Given the description of an element on the screen output the (x, y) to click on. 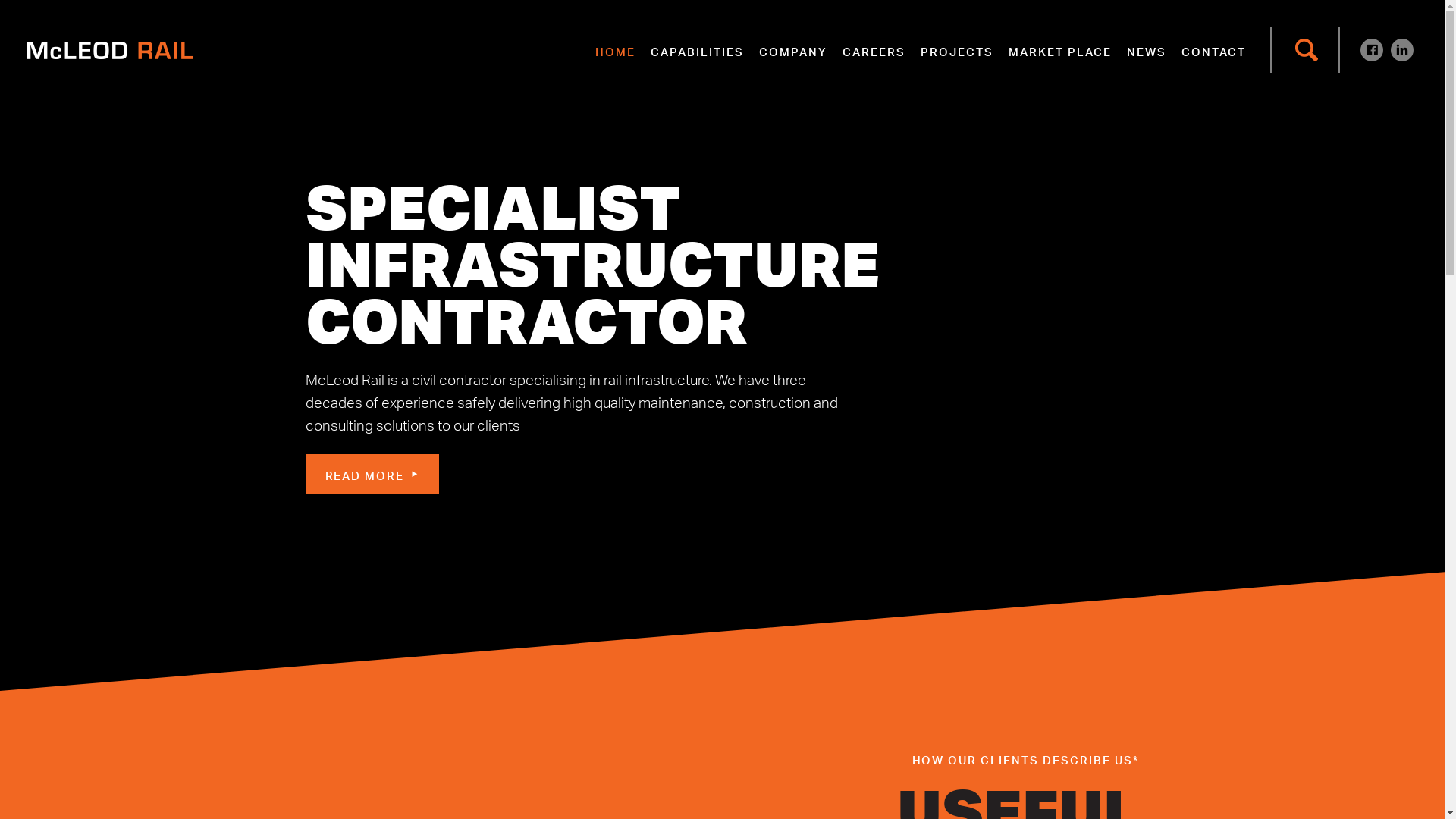
HOME Element type: text (615, 49)
LinkedIn Element type: hover (1401, 49)
NEWS Element type: text (1146, 49)
MARKET PLACE Element type: text (1060, 49)
CAREERS Element type: text (873, 49)
McLeod Rail Pty Ltd Element type: hover (109, 49)
CONTACT Element type: text (1213, 49)
READ MORE Element type: text (371, 474)
magnify Element type: hover (1306, 49)
Facebook Element type: hover (1371, 49)
COMPANY Element type: text (792, 49)
PROJECTS Element type: text (957, 49)
CAPABILITIES Element type: text (697, 49)
